Given the description of an element on the screen output the (x, y) to click on. 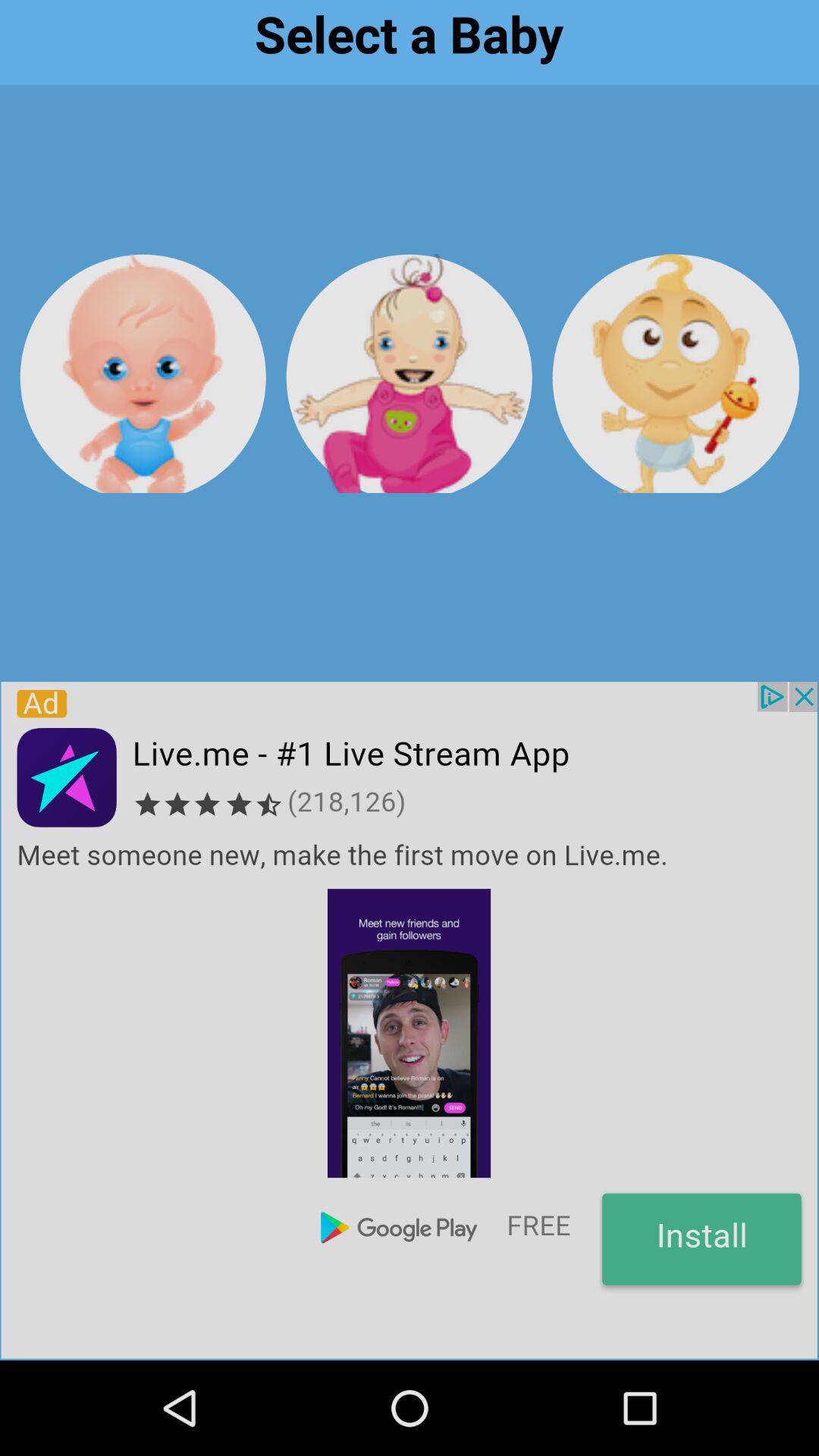
advertisement (409, 1019)
